Given the description of an element on the screen output the (x, y) to click on. 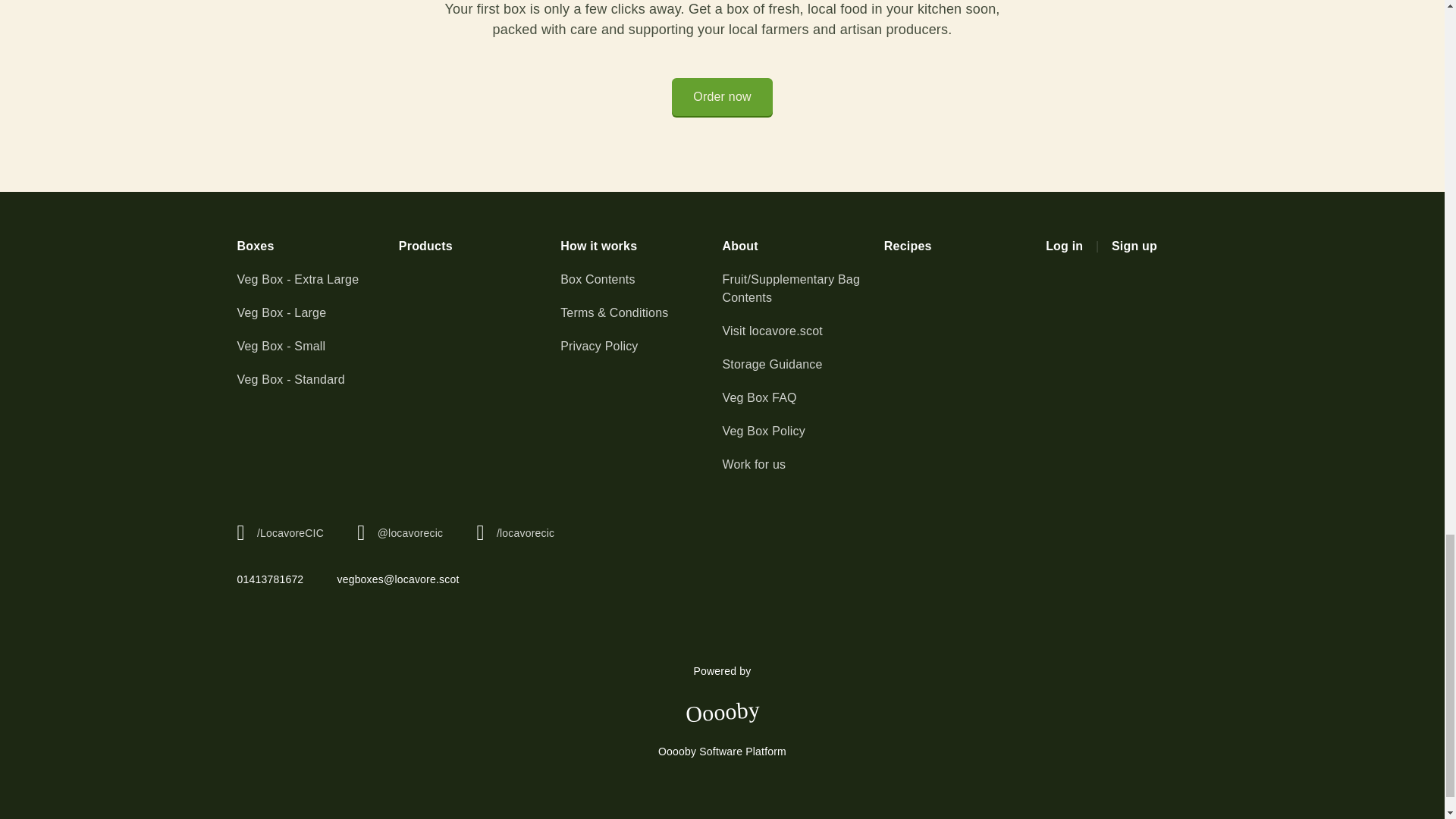
Order now (722, 96)
Box Contents (641, 280)
Products (479, 246)
Veg Box - Small (316, 346)
Privacy Policy (641, 346)
Veg Box - Large (316, 312)
Veg Box - Standard (316, 380)
Veg Box - Extra Large (316, 280)
How it works (641, 246)
About (802, 246)
Boxes (316, 246)
